Given the description of an element on the screen output the (x, y) to click on. 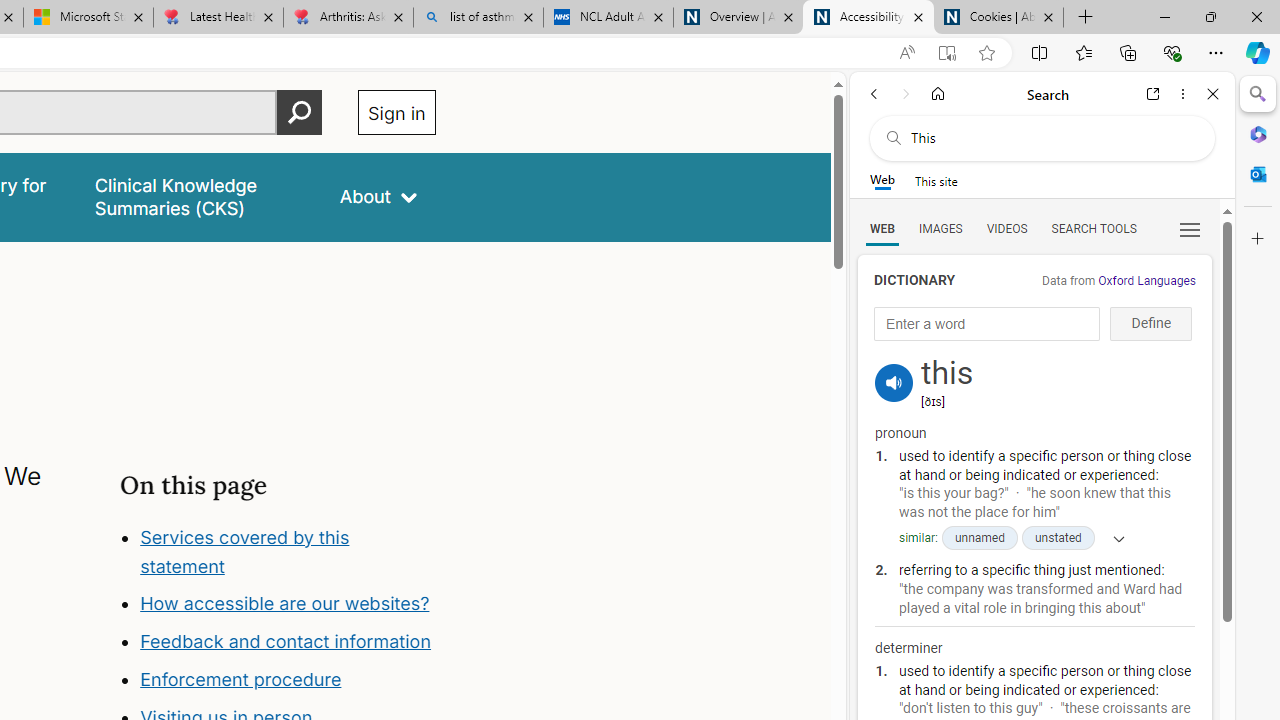
Oxford Languages (1146, 281)
Link for logging (893, 359)
unnamed (978, 538)
WEB   (882, 228)
Forward (906, 93)
Web scope (882, 180)
Enforcement procedure (240, 679)
Enforcement procedure (287, 680)
